Given the description of an element on the screen output the (x, y) to click on. 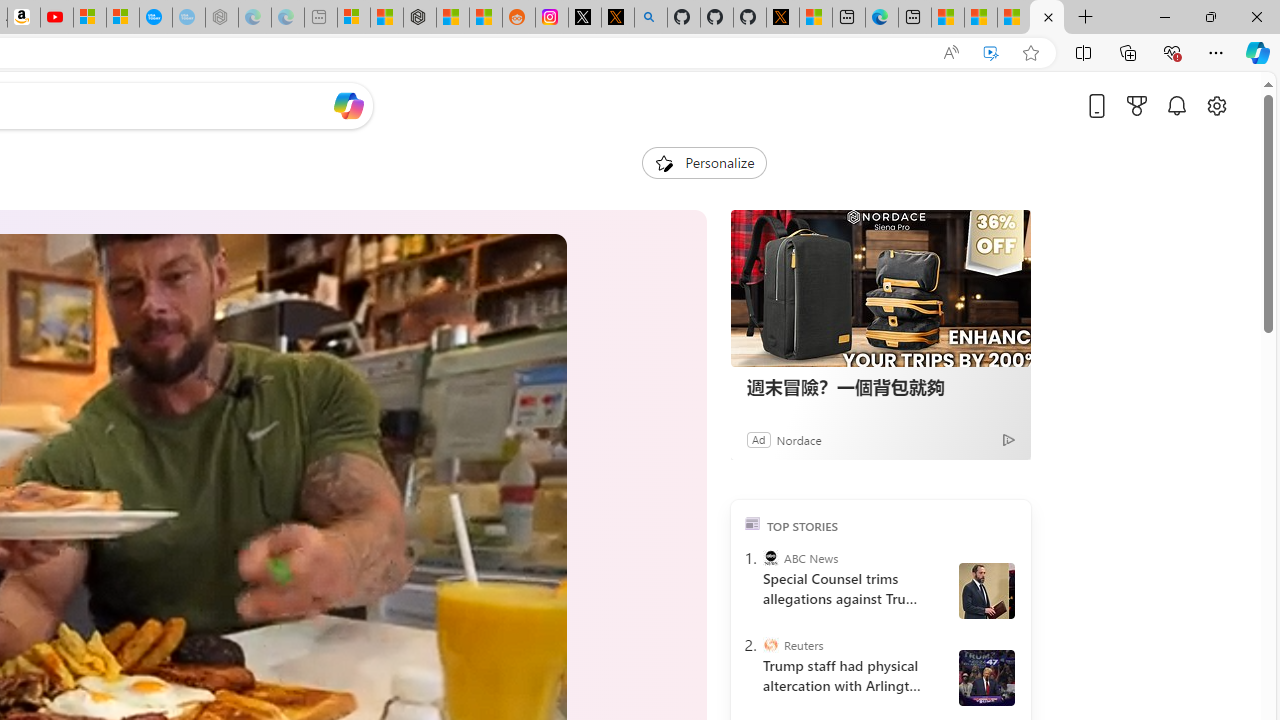
Notifications (1176, 105)
Shanghai, China Weather trends | Microsoft Weather (485, 17)
New tab - Sleeping (320, 17)
Reuters (770, 645)
